Given the description of an element on the screen output the (x, y) to click on. 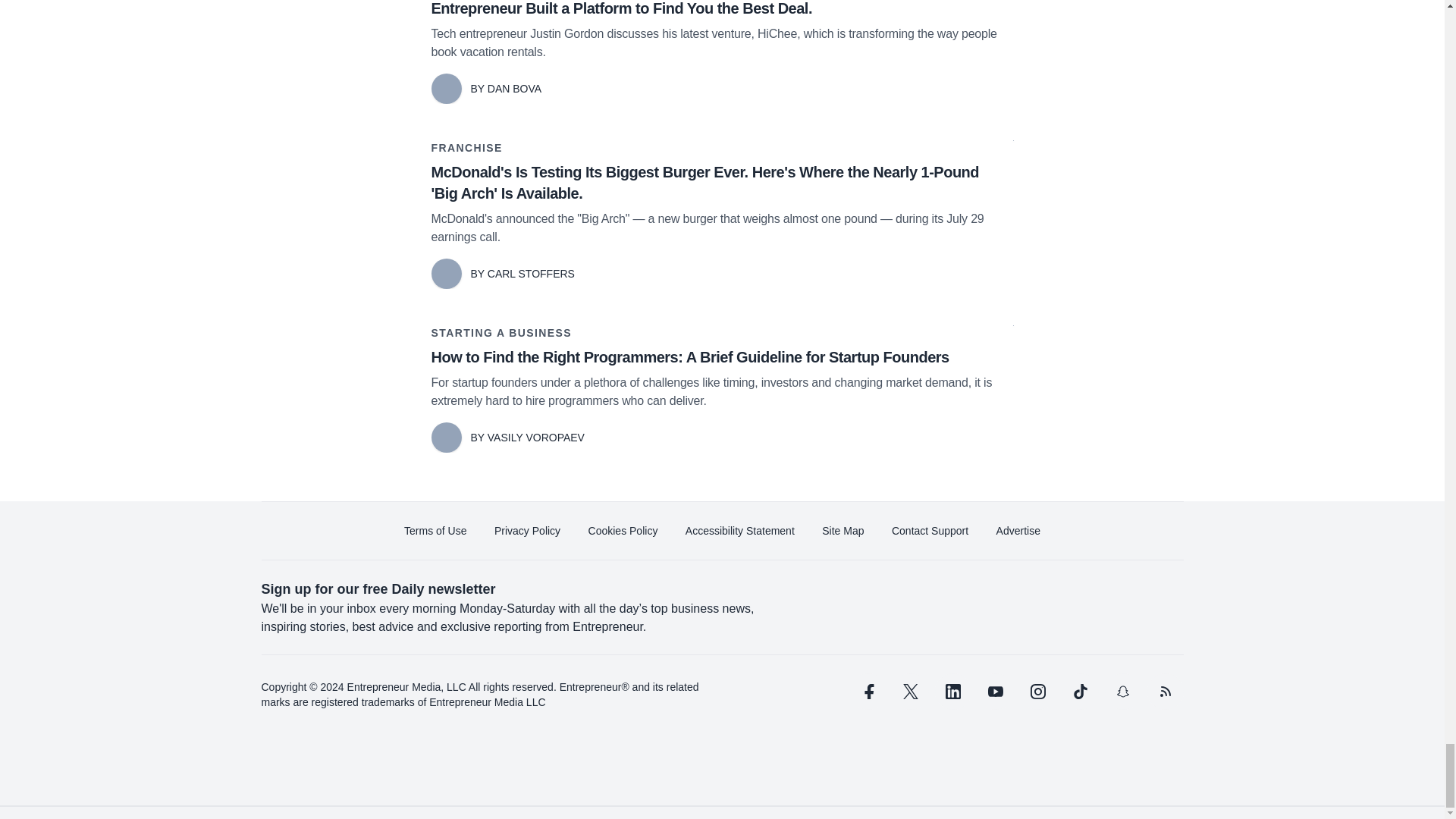
linkedin (952, 691)
facebook (866, 691)
youtube (994, 691)
twitter (909, 691)
snapchat (1121, 691)
instagram (1037, 691)
tiktok (1079, 691)
